Given the description of an element on the screen output the (x, y) to click on. 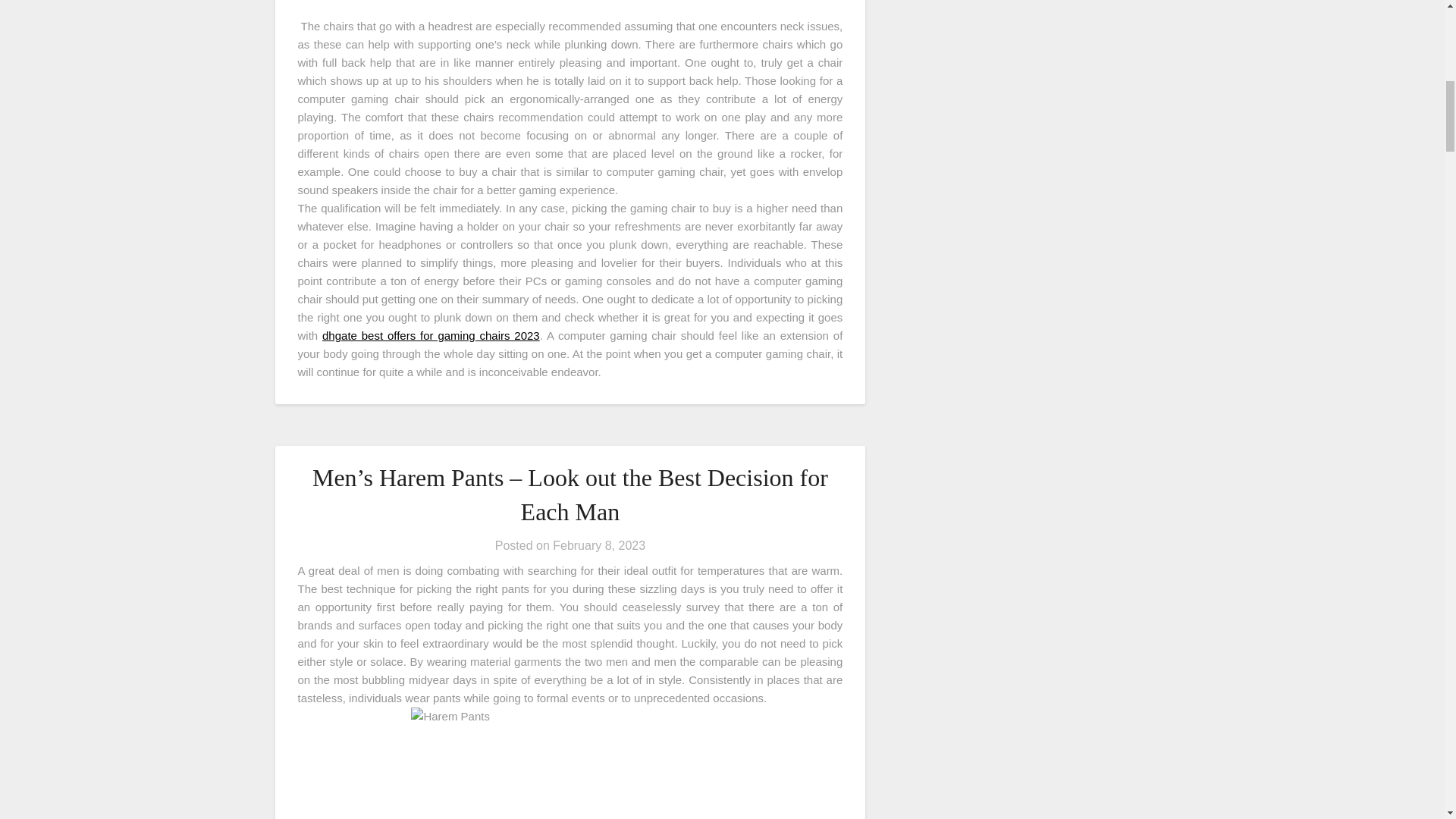
February 8, 2023 (599, 545)
dhgate best offers for gaming chairs 2023 (430, 335)
